Given the description of an element on the screen output the (x, y) to click on. 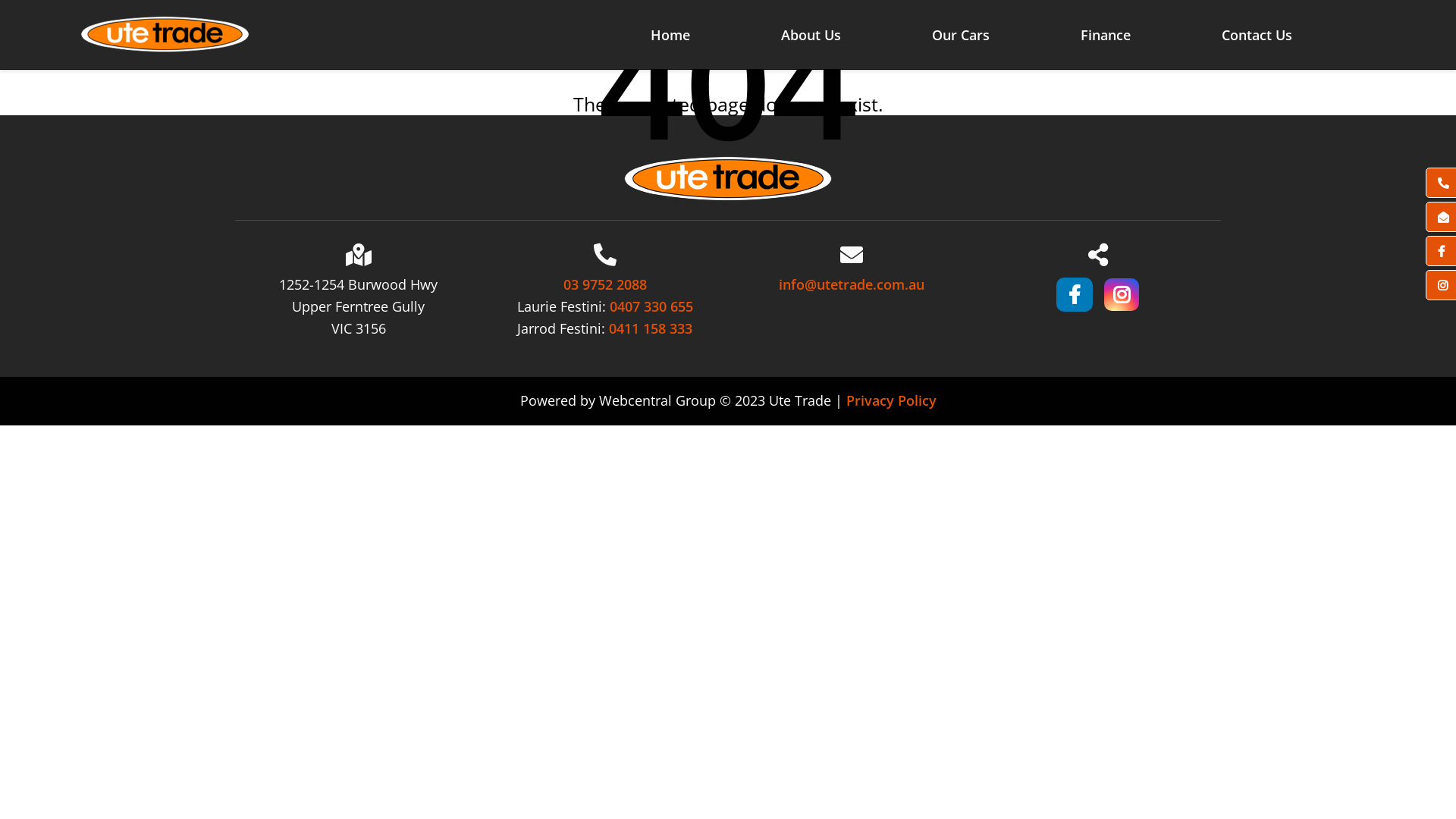
Location Element type: hover (358, 254)
Contact Us Element type: text (1256, 34)
Eastern Car Zone Element type: hover (727, 178)
Privacy Policy Element type: text (891, 400)
About Us Element type: text (810, 34)
Finance Element type: text (1105, 34)
Email Element type: hover (851, 254)
03 9752 2088 Element type: text (604, 284)
Our Cars Element type: text (960, 34)
0411 158 333 Element type: text (650, 328)
0407 330 655 Element type: text (651, 306)
Home Element type: text (670, 34)
Share Element type: hover (1097, 254)
Phone Element type: hover (604, 254)
info@utetrade.com.au Element type: text (850, 284)
